Given the description of an element on the screen output the (x, y) to click on. 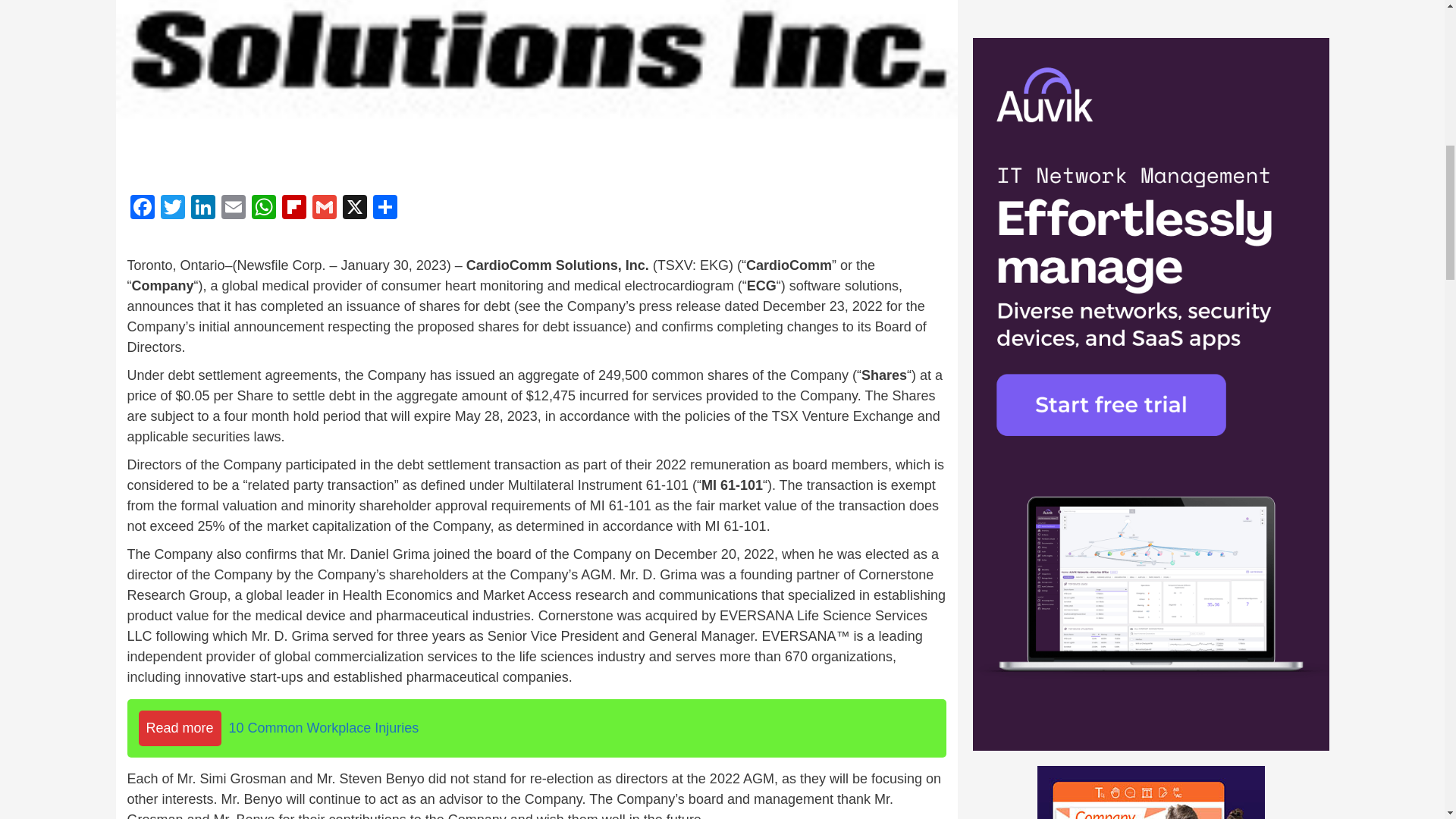
X (354, 208)
Twitter (172, 208)
LinkedIn (202, 208)
Flipboard (293, 208)
Flipboard (293, 208)
X (354, 208)
WhatsApp (263, 208)
Gmail (323, 208)
WhatsApp (263, 208)
Facebook (142, 208)
